Given the description of an element on the screen output the (x, y) to click on. 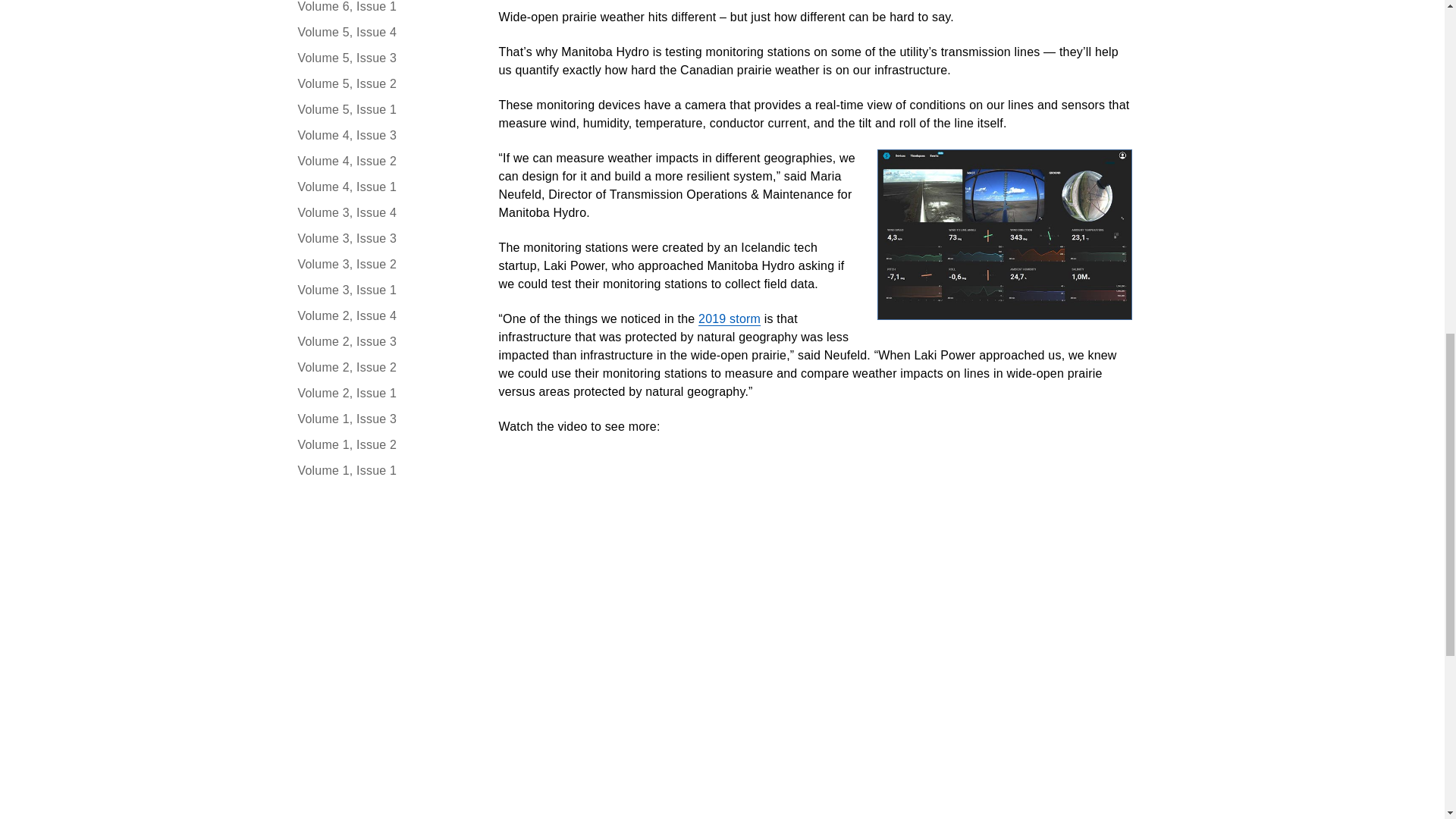
Volume 3, Issue 3 (382, 239)
Volume 6, Issue 1 (382, 7)
Volume 3, Issue 4 (382, 212)
Volume 4, Issue 1 (382, 187)
Volume 3, Issue 1 (382, 290)
2019 storm (729, 318)
Volume 3, Issue 2 (382, 264)
Volume 5, Issue 4 (382, 32)
Volume 4, Issue 2 (382, 161)
Volume 2, Issue 2 (382, 367)
Volume 5, Issue 2 (382, 84)
Volume 1, Issue 3 (382, 419)
Volume 2, Issue 3 (382, 341)
Volume 1, Issue 1 (382, 470)
